Given the description of an element on the screen output the (x, y) to click on. 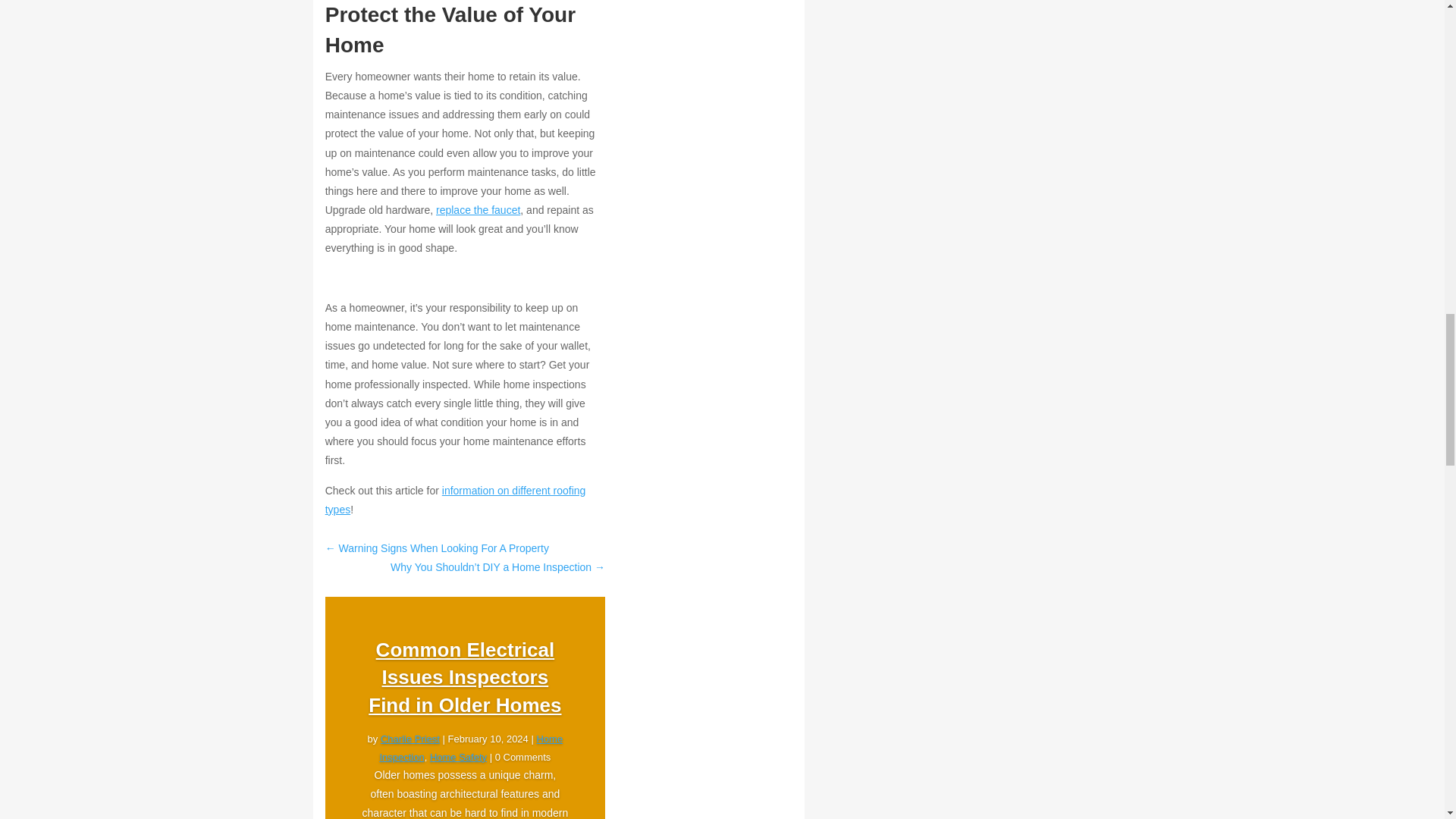
Common Electrical Issues Inspectors Find in Older Homes (464, 677)
Home Safety (457, 756)
Posts by Charlie Priest (409, 738)
information on different roofing types (455, 499)
replace the faucet (477, 209)
Home Inspection (470, 747)
Charlie Priest (409, 738)
